Given the description of an element on the screen output the (x, y) to click on. 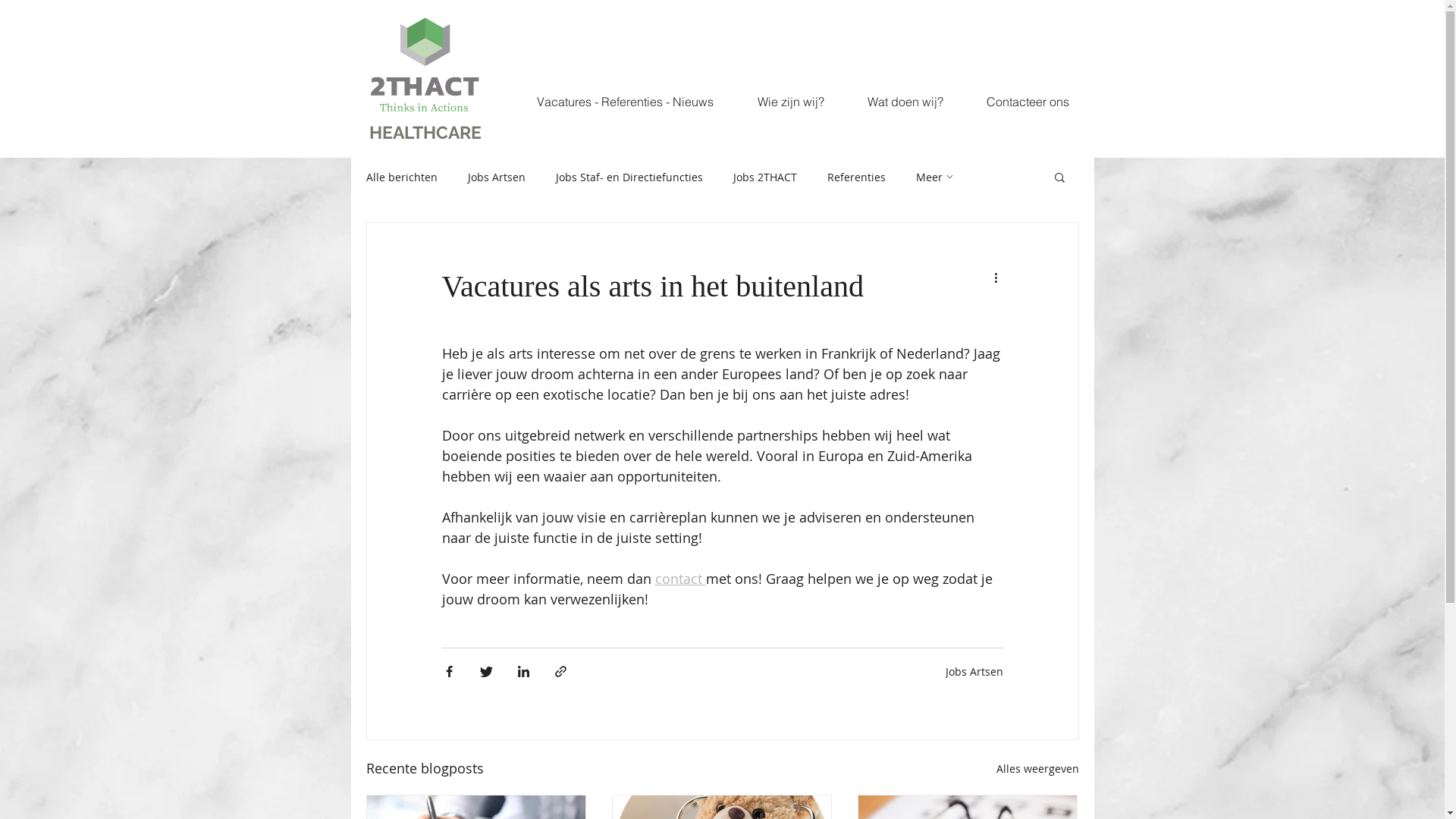
Wie zijn wij? Element type: text (790, 101)
Vacatures - Referenties - Nieuws Element type: text (624, 101)
Wat doen wij? Element type: text (905, 101)
Jobs 2THACT Element type: text (764, 176)
Alles weergeven Element type: text (1037, 768)
Referenties Element type: text (855, 176)
Jobs Artsen Element type: text (973, 671)
Jobs Artsen Element type: text (495, 176)
contact  Element type: text (680, 578)
Alle berichten Element type: text (400, 176)
Contacteer ons Element type: text (1027, 101)
Jobs Staf- en Directiefuncties Element type: text (628, 176)
TWIPLA (Visitor Analytics) Element type: hover (1330, 57)
